Given the description of an element on the screen output the (x, y) to click on. 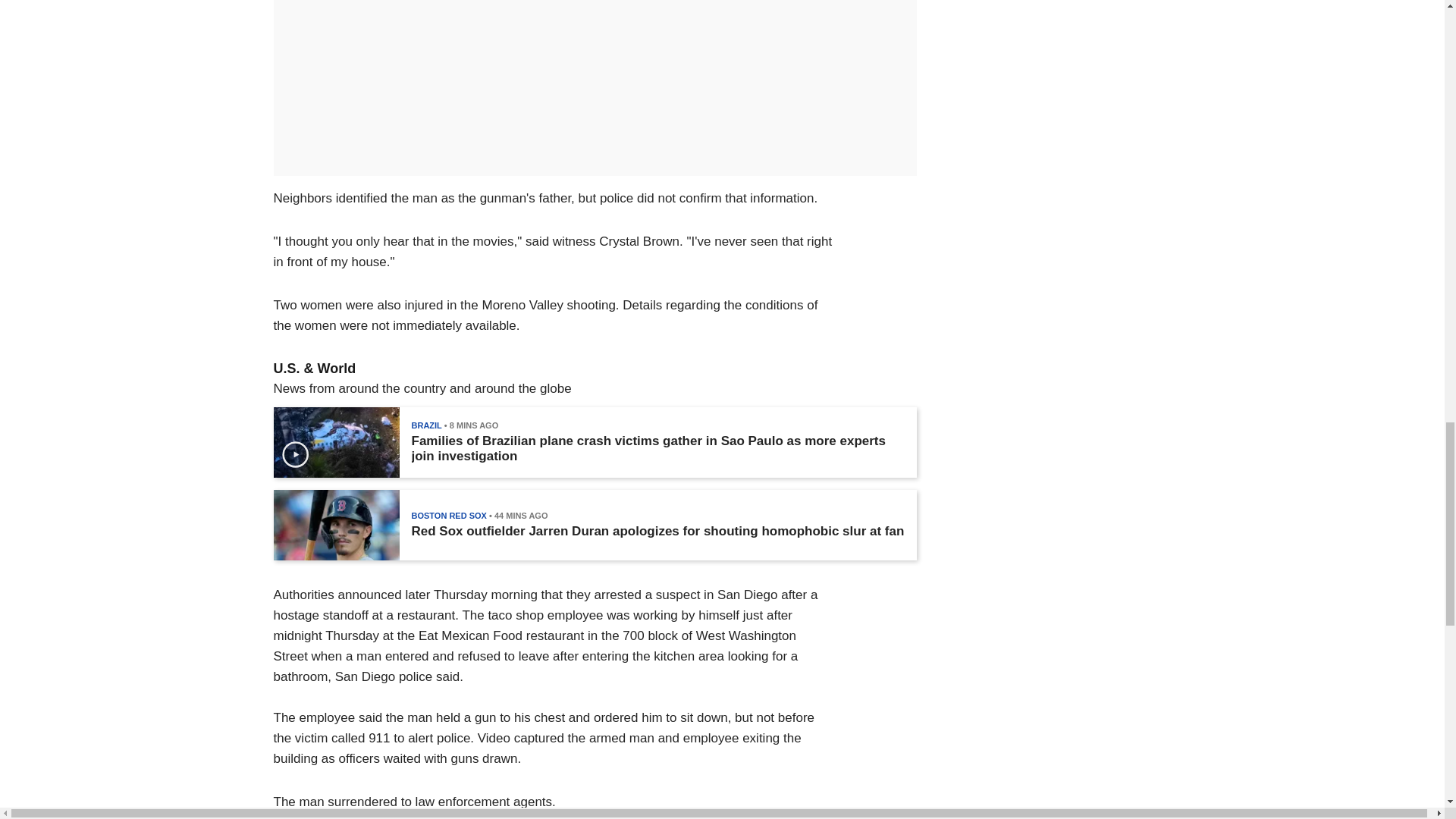
BRAZIL (425, 424)
BOSTON RED SOX (448, 515)
